Given the description of an element on the screen output the (x, y) to click on. 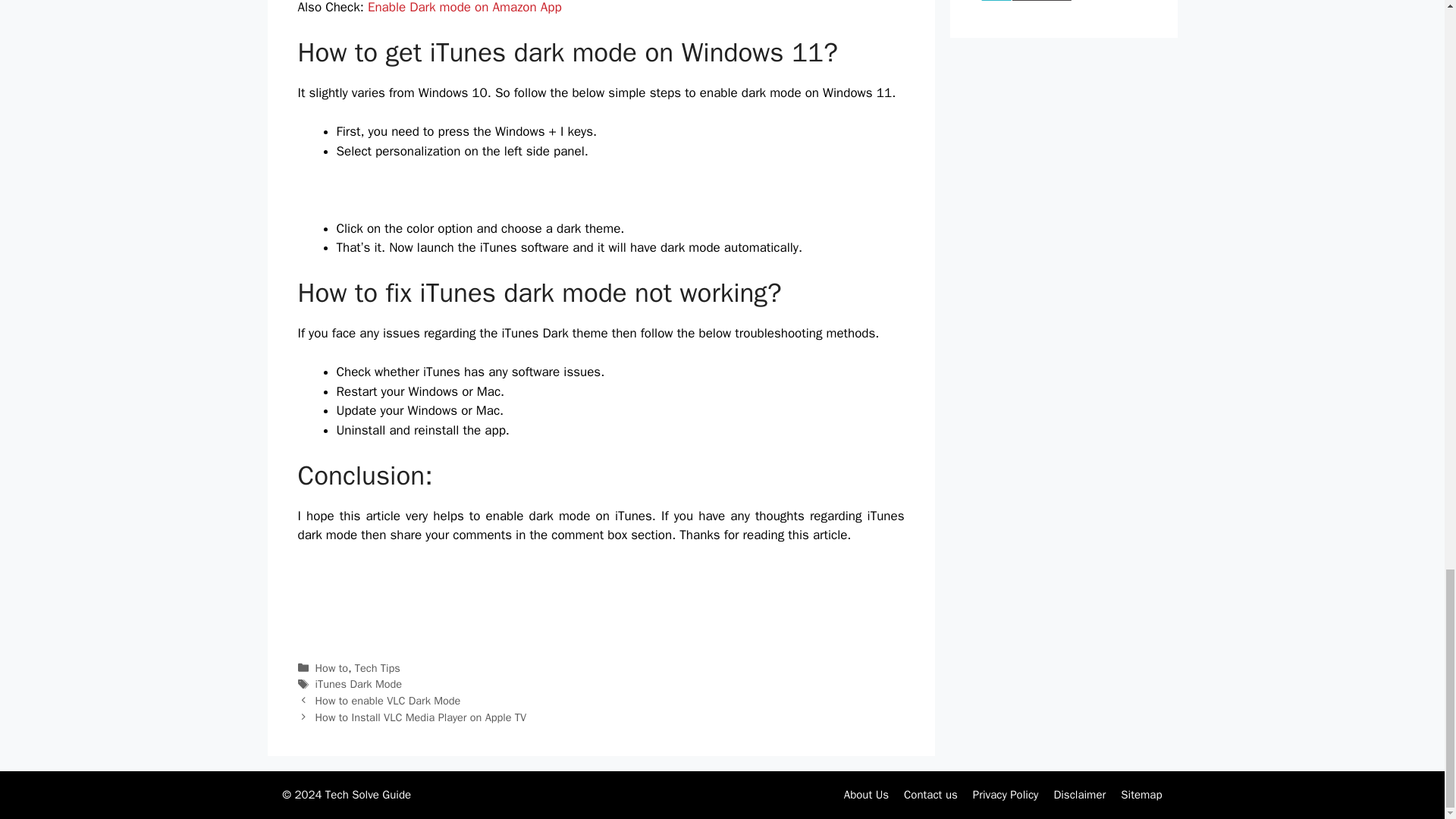
How to Install VLC Media Player on Apple TV (421, 716)
How to enable VLC Dark Mode (388, 700)
Privacy Policy (1005, 794)
DMCA.com Protection Status (1025, 2)
Disclaimer (1078, 794)
How to (332, 667)
Tech Tips (377, 667)
About Us (866, 794)
Contact us (931, 794)
iTunes Dark Mode (359, 684)
